Given the description of an element on the screen output the (x, y) to click on. 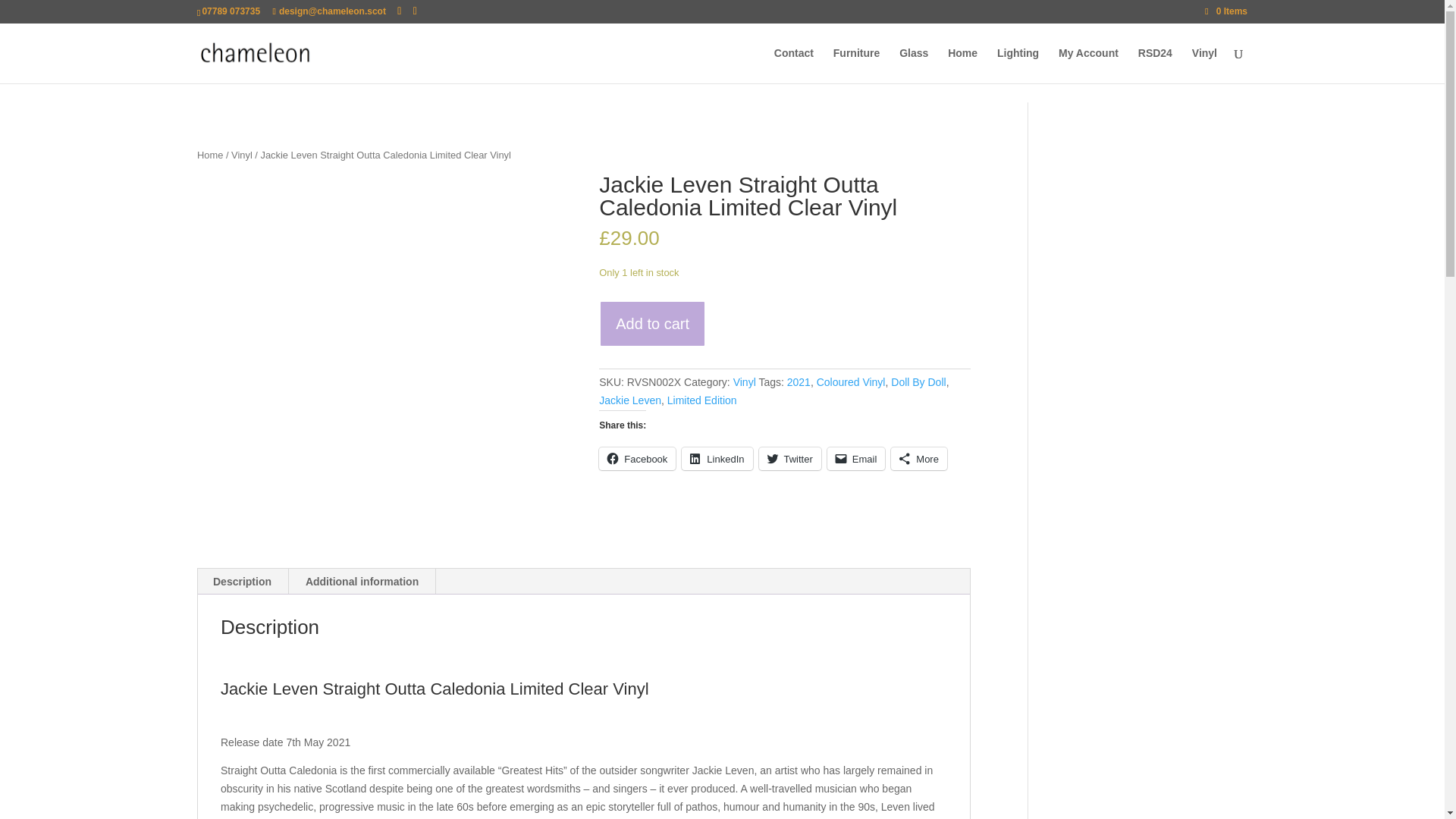
Doll By Doll (917, 381)
Vinyl (241, 154)
2021 (798, 381)
Jackie Leven (629, 399)
Home (209, 154)
0 Items (1226, 10)
Add to cart (652, 324)
My Account (1088, 65)
Limited Edition (701, 399)
Description (242, 581)
